Given the description of an element on the screen output the (x, y) to click on. 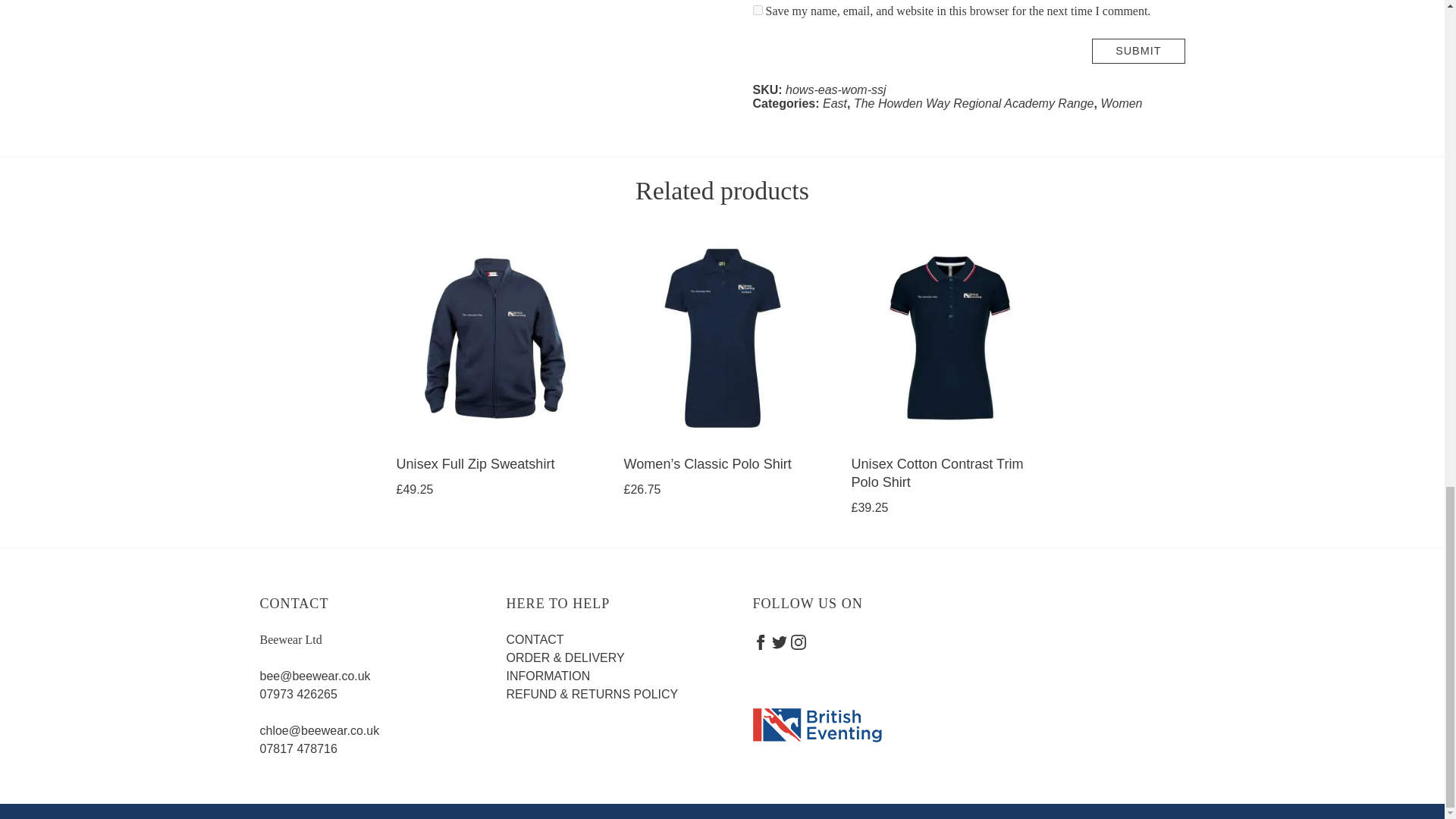
East (834, 103)
yes (756, 9)
Submit (1138, 50)
CONTACT (535, 639)
Visit the British Eventing homepage (816, 726)
Women (1120, 103)
The Howden Way Regional Academy Range (973, 103)
Instagram (797, 642)
Submit (1138, 50)
07817 478716 (297, 748)
07973 426265 (297, 694)
Facebook (759, 642)
Twitter (779, 642)
